Given the description of an element on the screen output the (x, y) to click on. 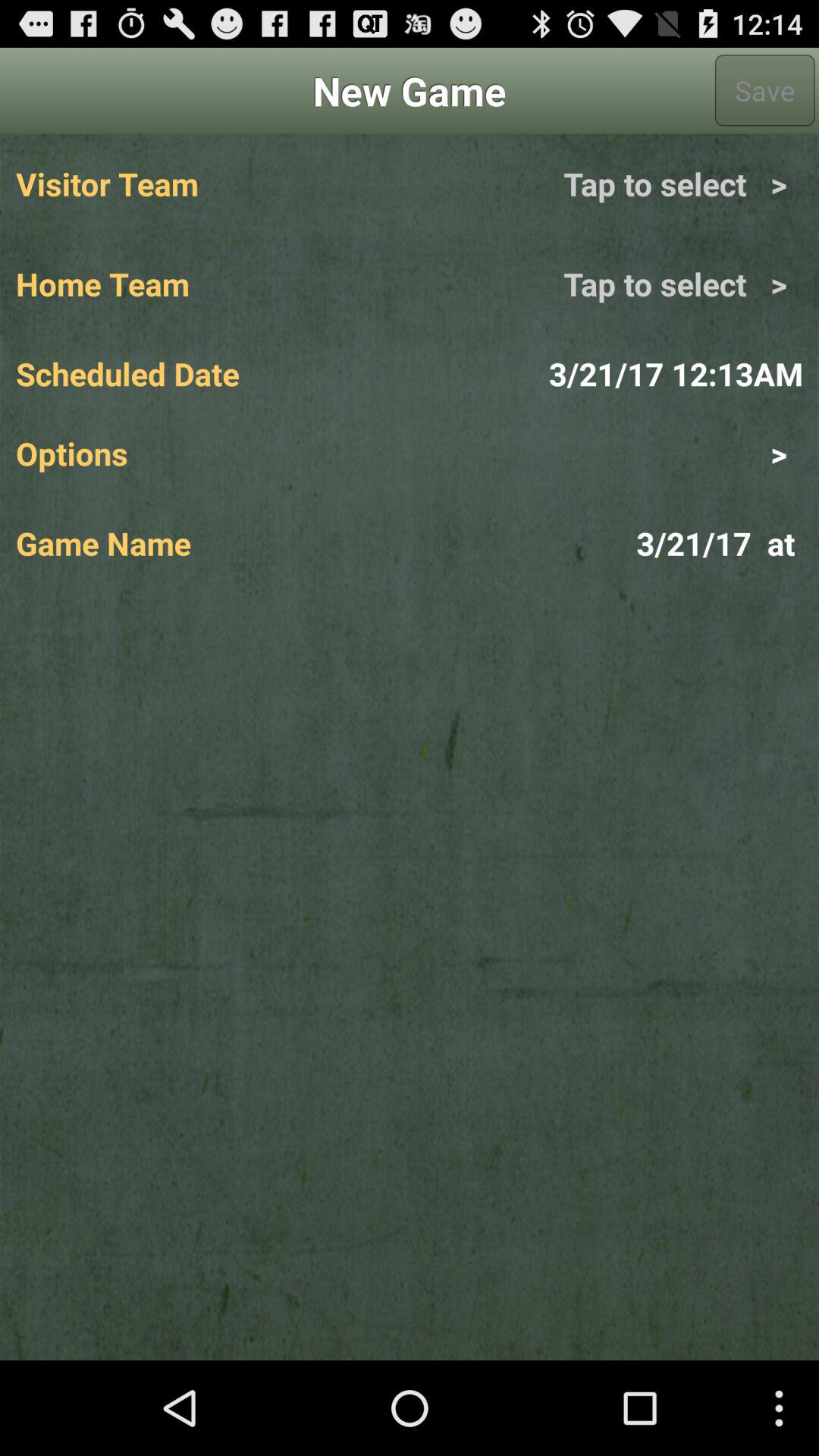
choose icon above tap to select   >   item (764, 90)
